Given the description of an element on the screen output the (x, y) to click on. 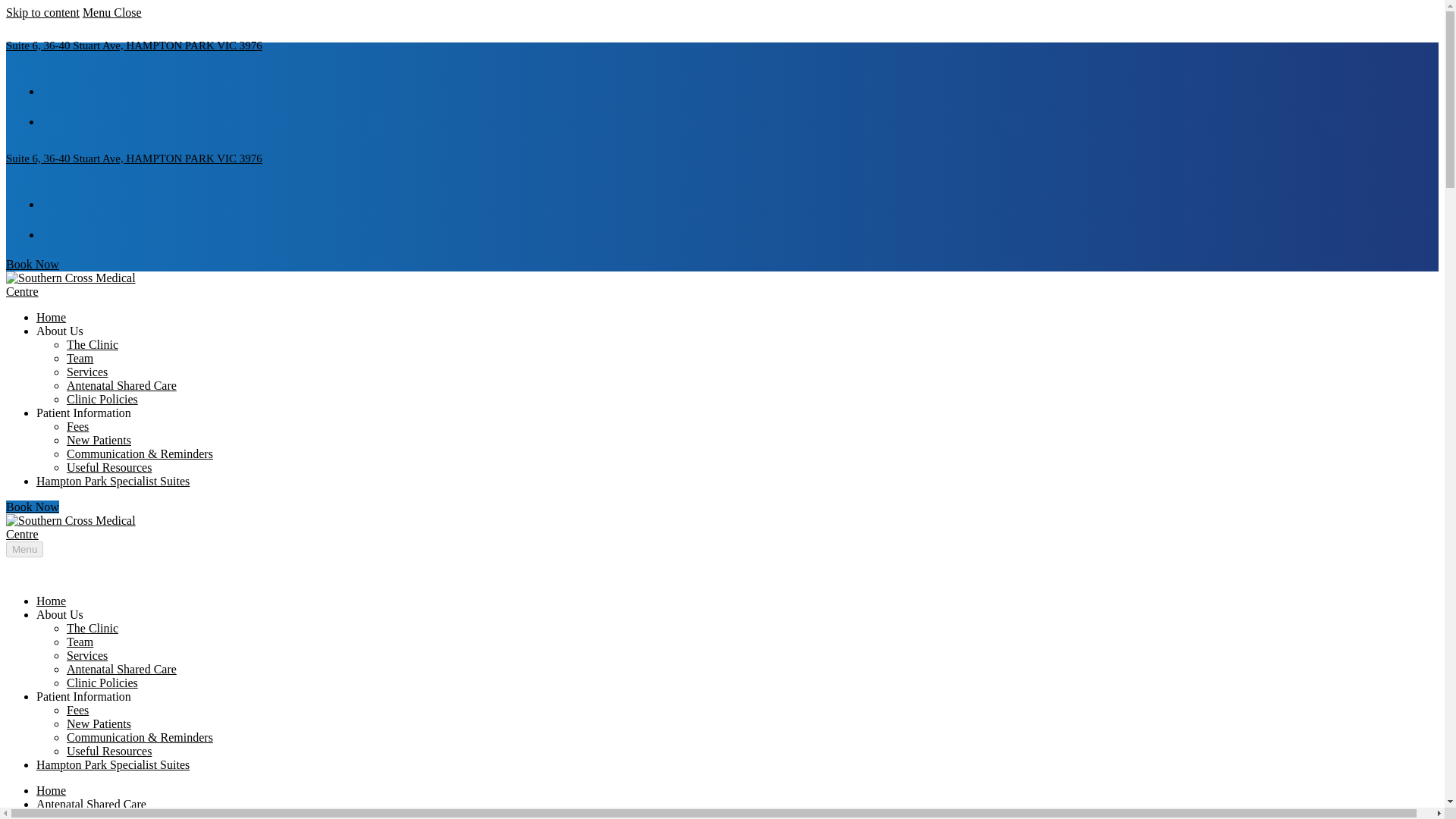
Book Now (32, 264)
Book Now (32, 506)
Hampton Park Specialist Suites (112, 481)
Home (50, 600)
Services (86, 655)
Menu (24, 549)
Antenatal Shared Care (121, 668)
Useful Resources (108, 467)
Services (86, 371)
Clinic Policies (102, 682)
